Given the description of an element on the screen output the (x, y) to click on. 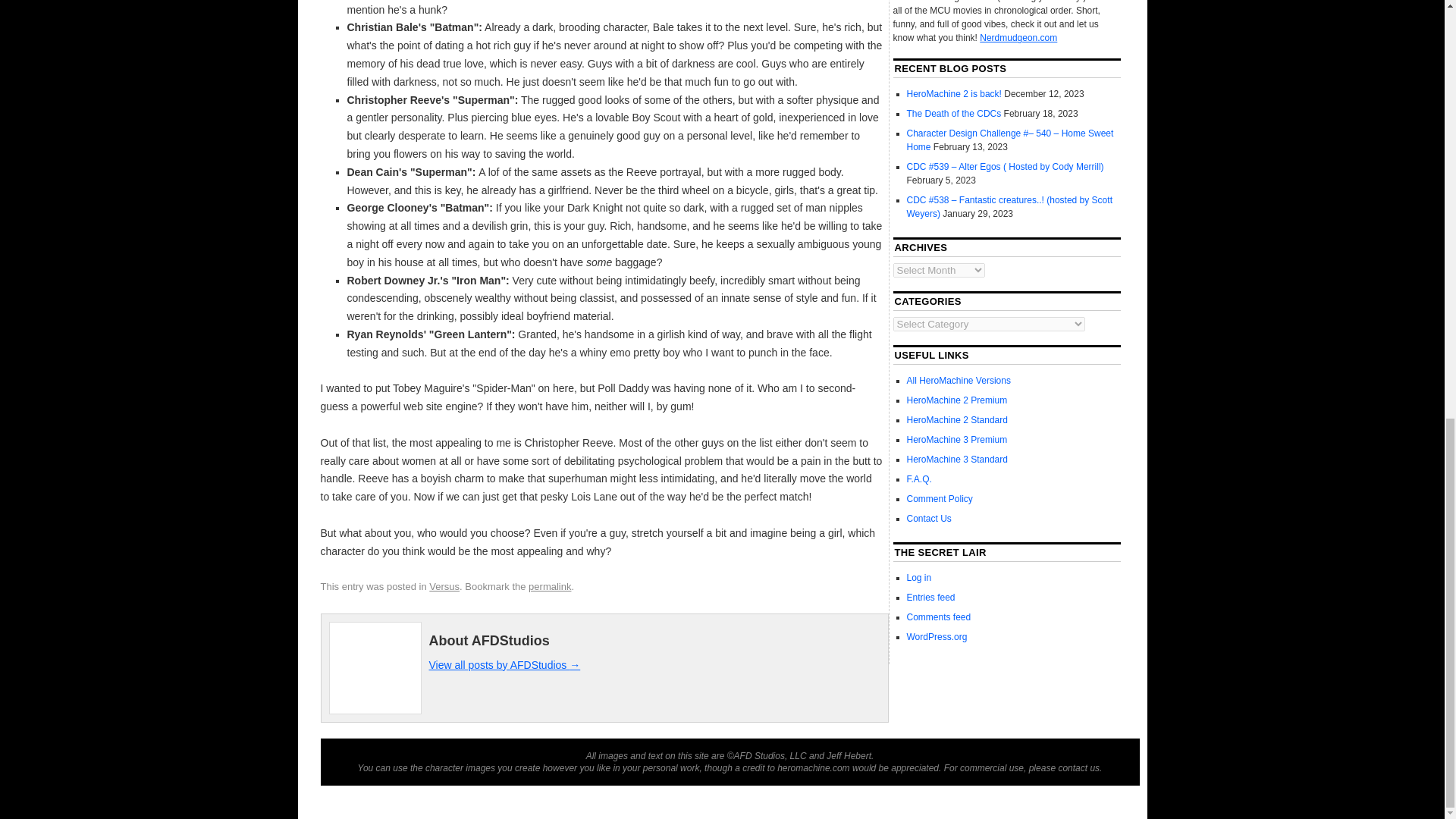
Comment Policy (939, 498)
Permalink to Movie Boyfriends (549, 586)
All HeroMachine Versions (958, 380)
F.A.Q. (919, 479)
HeroMachine 3 Standard (957, 459)
HeroMachine 2 Standard (957, 419)
HeroMachine 2 is back! (954, 93)
permalink (549, 586)
HeroMachine 3 Premium (957, 439)
Versus (444, 586)
HeroMachine 2 Premium (957, 399)
The Death of the CDCs (954, 113)
Contact Us (929, 518)
Nerdmudgeon.com (1018, 37)
